Given the description of an element on the screen output the (x, y) to click on. 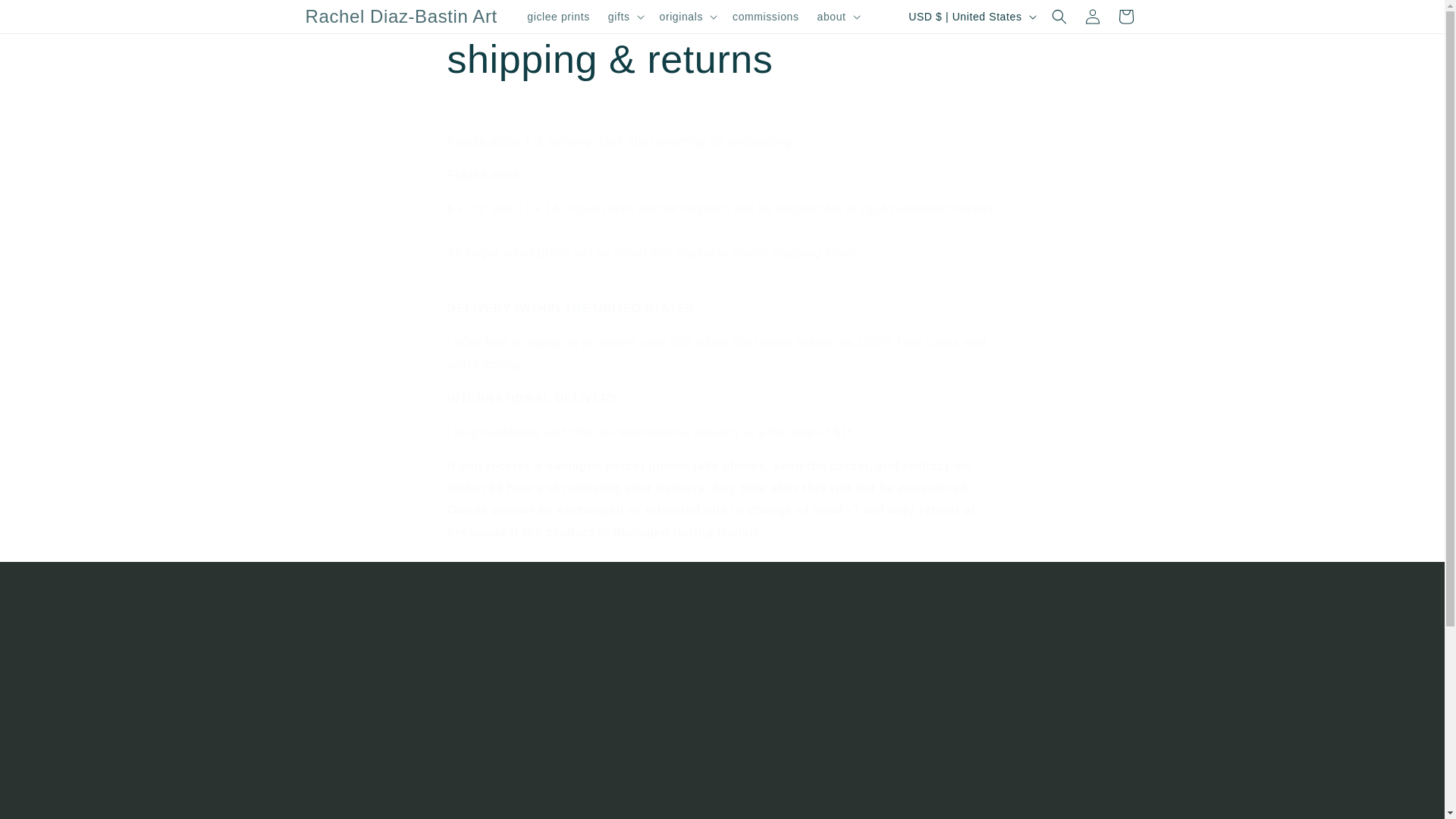
Rachel Diaz-Bastin Art (400, 16)
Cart (1124, 16)
commissions (765, 16)
Log in (1091, 16)
Skip to content (45, 17)
giclee prints (558, 16)
